Given the description of an element on the screen output the (x, y) to click on. 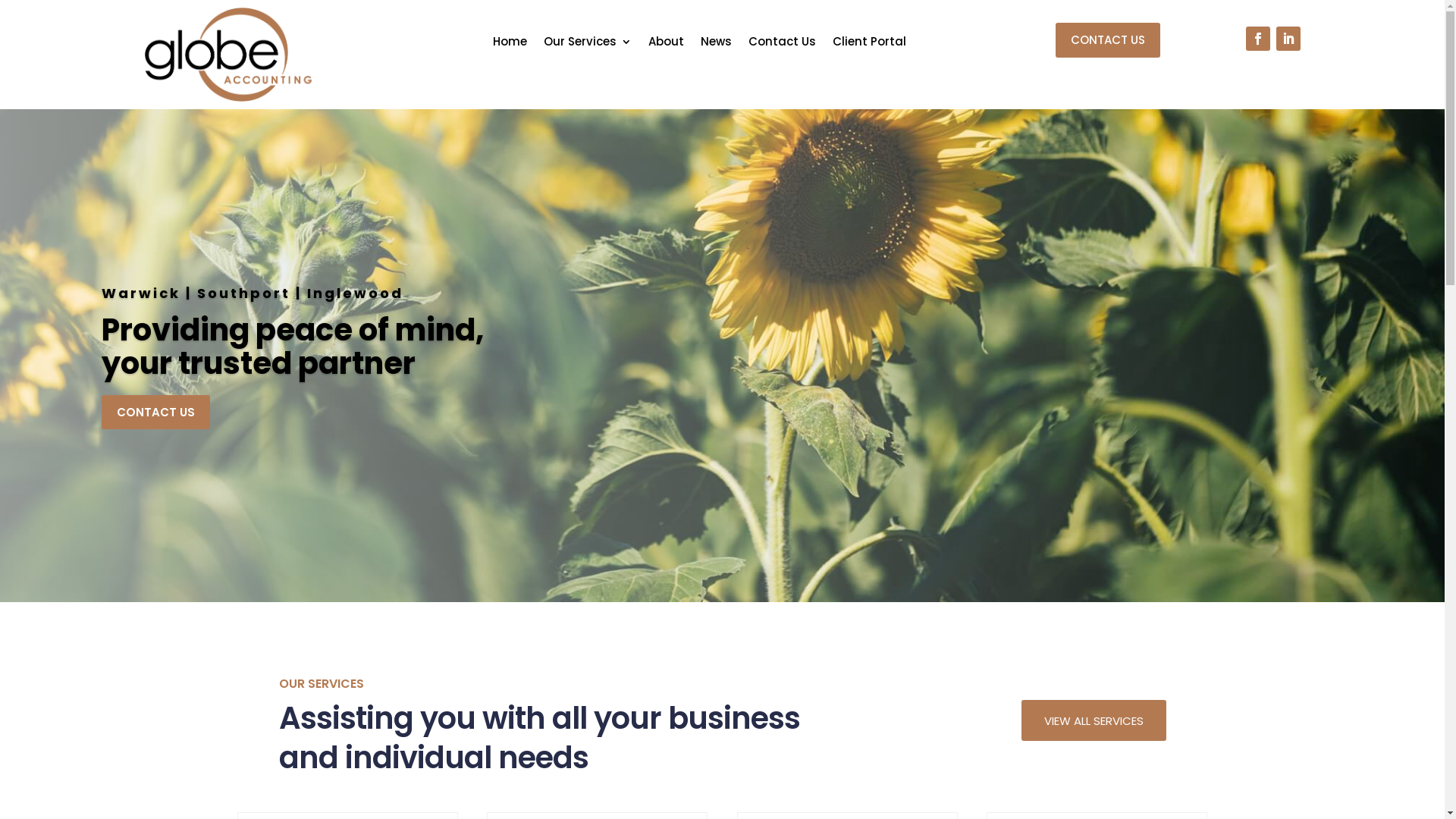
GLobe_cmyk Element type: hover (227, 54)
Contact Us Element type: text (781, 44)
Our Services Element type: text (587, 44)
CONTACT US Element type: text (155, 411)
Follow on Facebook Element type: hover (1257, 38)
VIEW ALL SERVICES Element type: text (1092, 720)
CONTACT US Element type: text (1107, 39)
Follow on LinkedIn Element type: hover (1287, 38)
Client Portal Element type: text (869, 44)
About Element type: text (666, 44)
Warwick | Southport | Inglewood Element type: text (252, 292)
Home Element type: text (509, 44)
News Element type: text (715, 44)
